Given the description of an element on the screen output the (x, y) to click on. 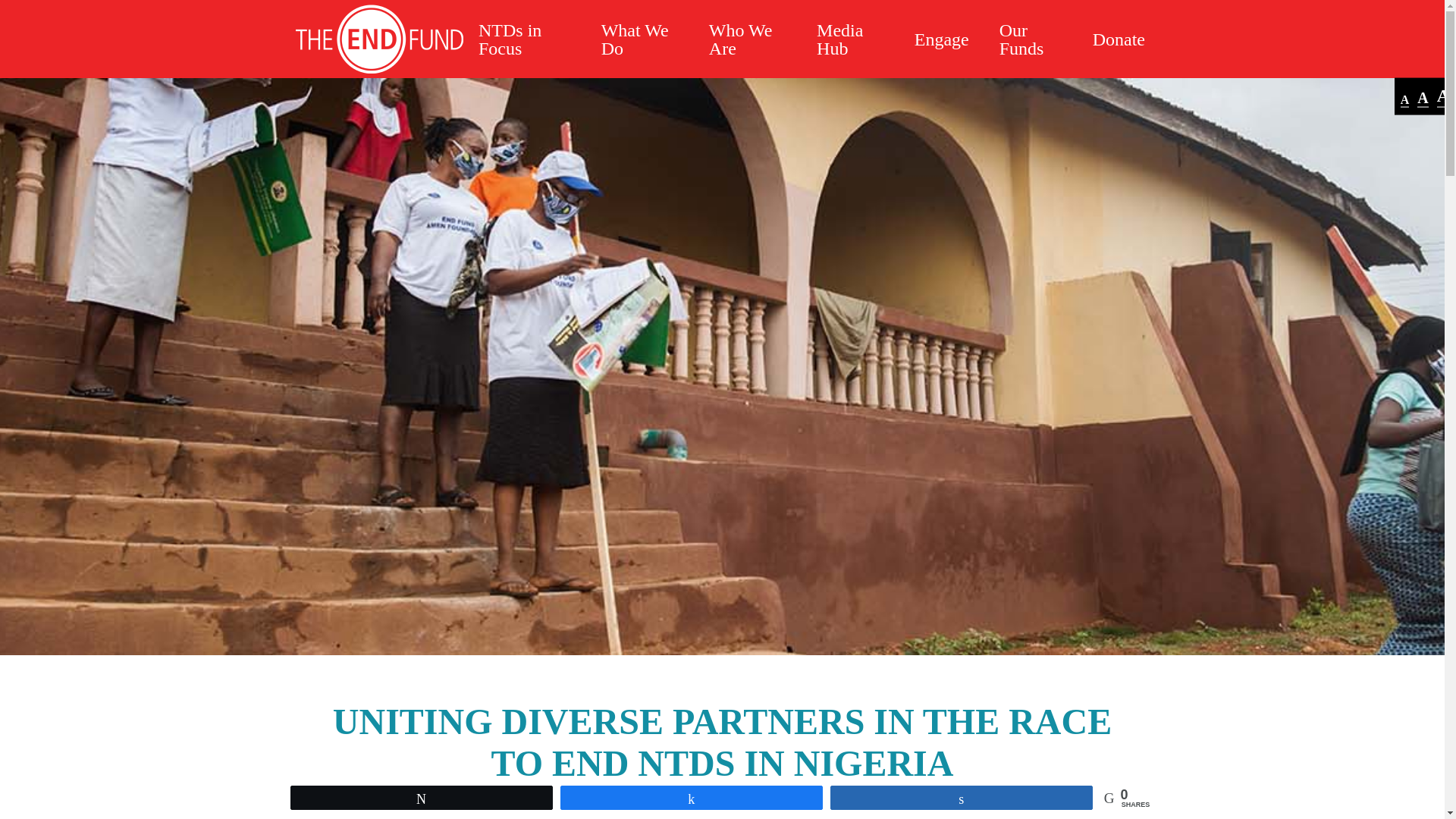
The END Fund (379, 38)
Who We Are (748, 38)
What We Do (640, 38)
Media Hub (850, 38)
Engage (941, 38)
Donate (1118, 38)
NTDs in Focus (524, 38)
Our Funds (1030, 38)
